Given the description of an element on the screen output the (x, y) to click on. 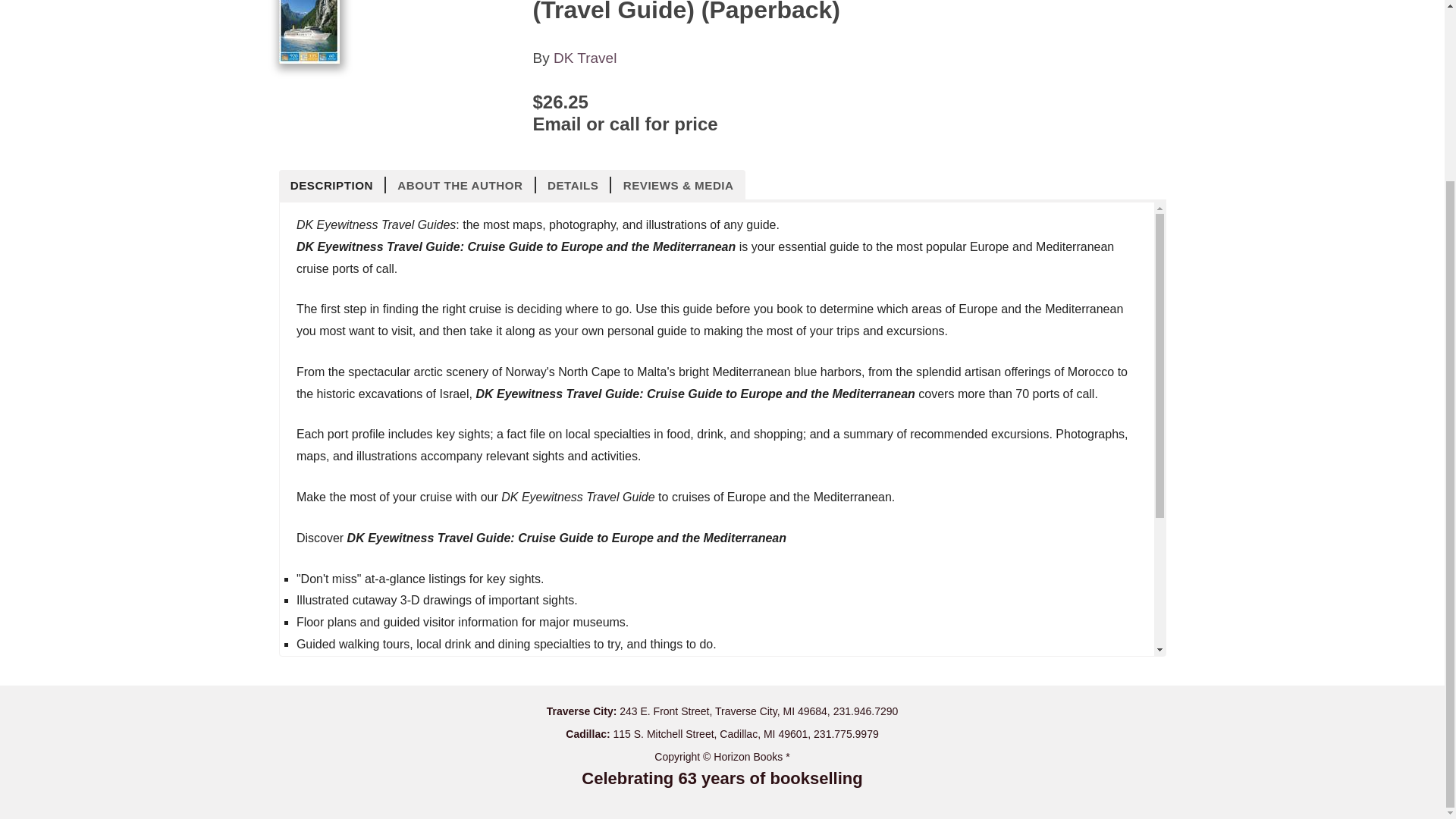
DETAILS (573, 184)
DESCRIPTION (333, 184)
DK Travel (584, 57)
ABOUT THE AUTHOR (460, 184)
